Given the description of an element on the screen output the (x, y) to click on. 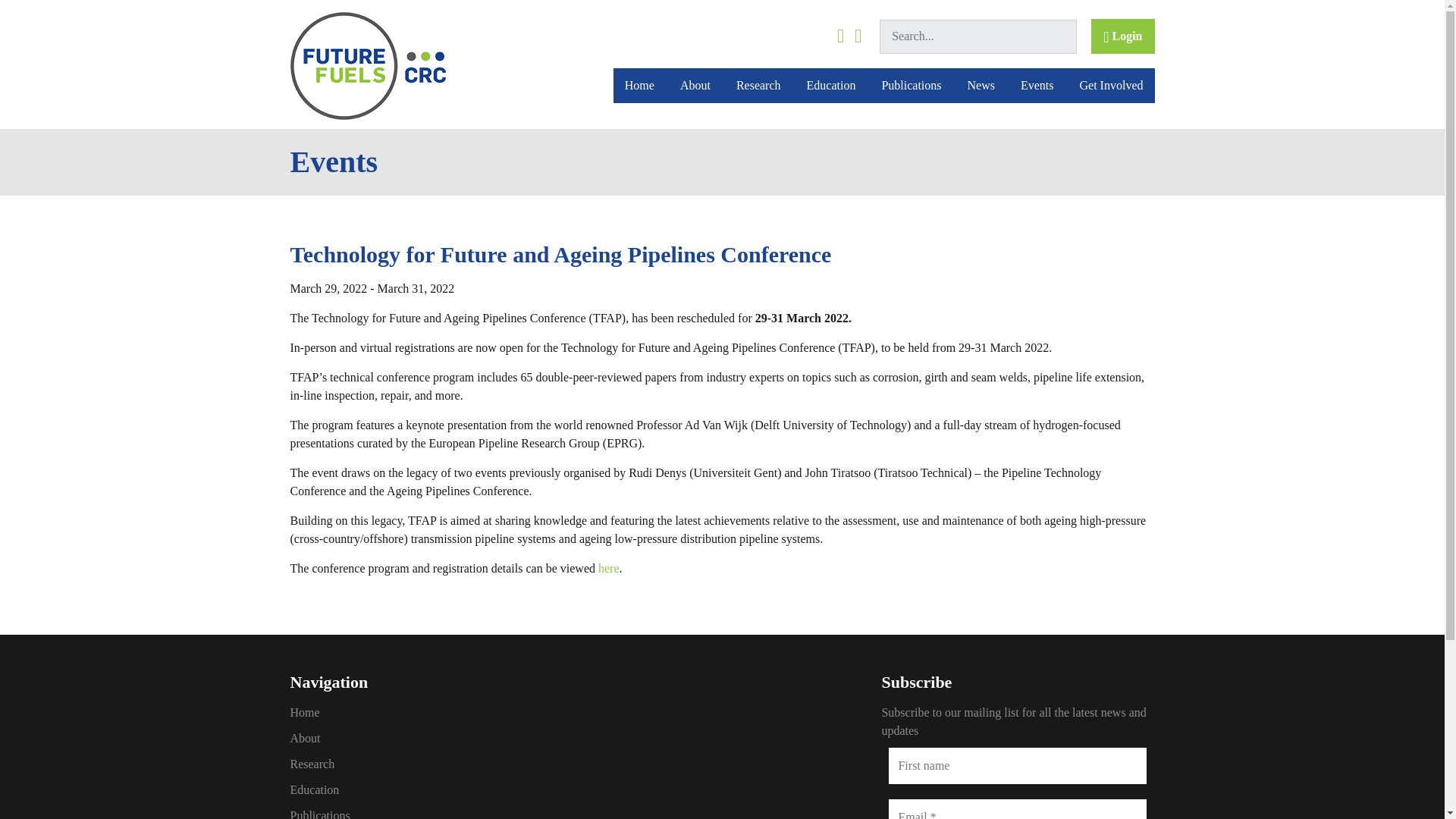
Publications (425, 812)
About (695, 85)
First name (1017, 765)
Research (758, 85)
Get Involved (1111, 85)
Email (1017, 809)
Events (1037, 85)
Education (425, 790)
News (981, 85)
About (425, 738)
Publications (910, 85)
Research (425, 764)
Login (1122, 36)
here (609, 567)
Education (830, 85)
